Given the description of an element on the screen output the (x, y) to click on. 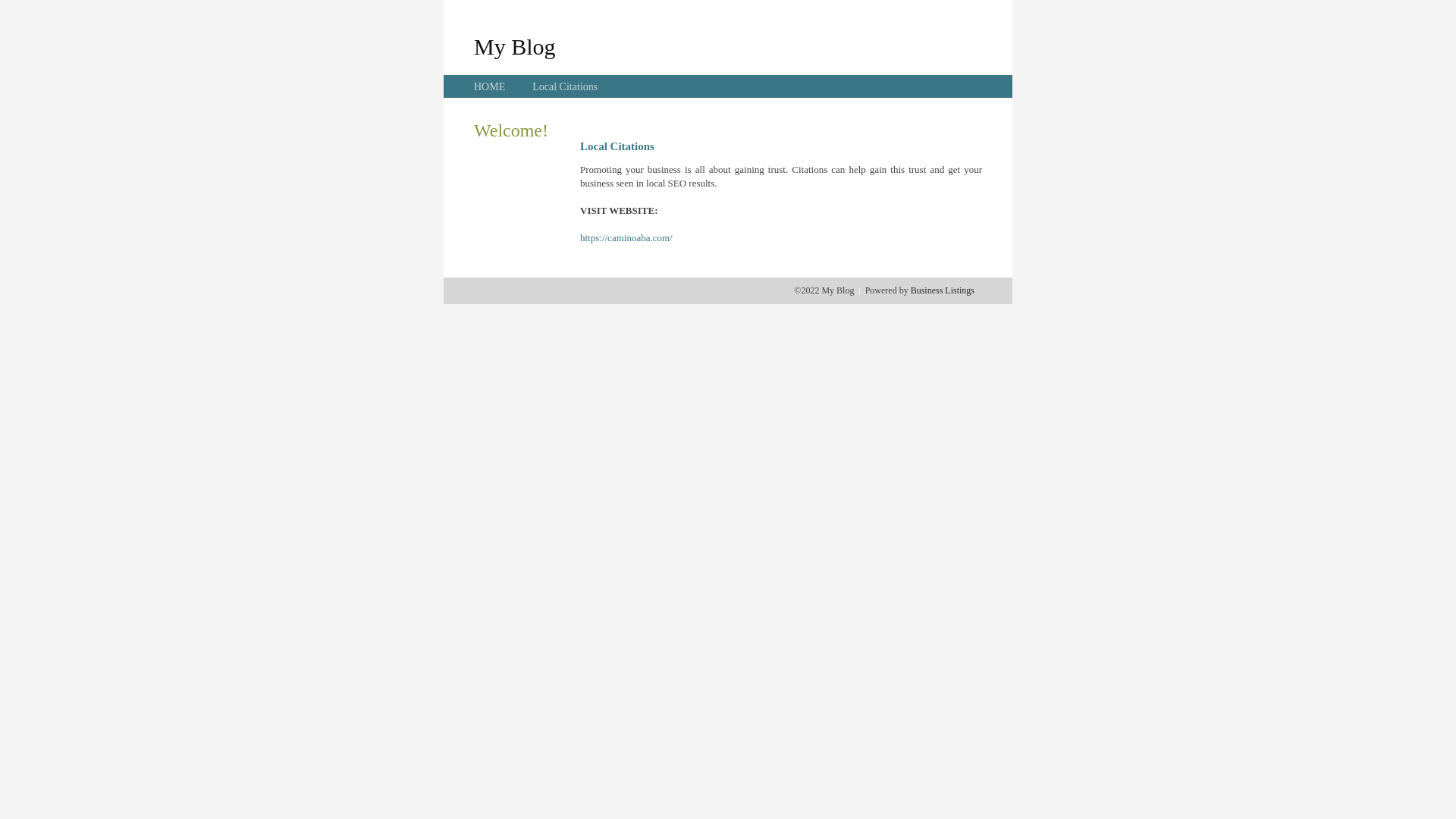
My Blog Element type: text (514, 46)
HOME Element type: text (489, 86)
https://caminoaba.com/ Element type: text (626, 237)
Business Listings Element type: text (942, 290)
Local Citations Element type: text (564, 86)
